Given the description of an element on the screen output the (x, y) to click on. 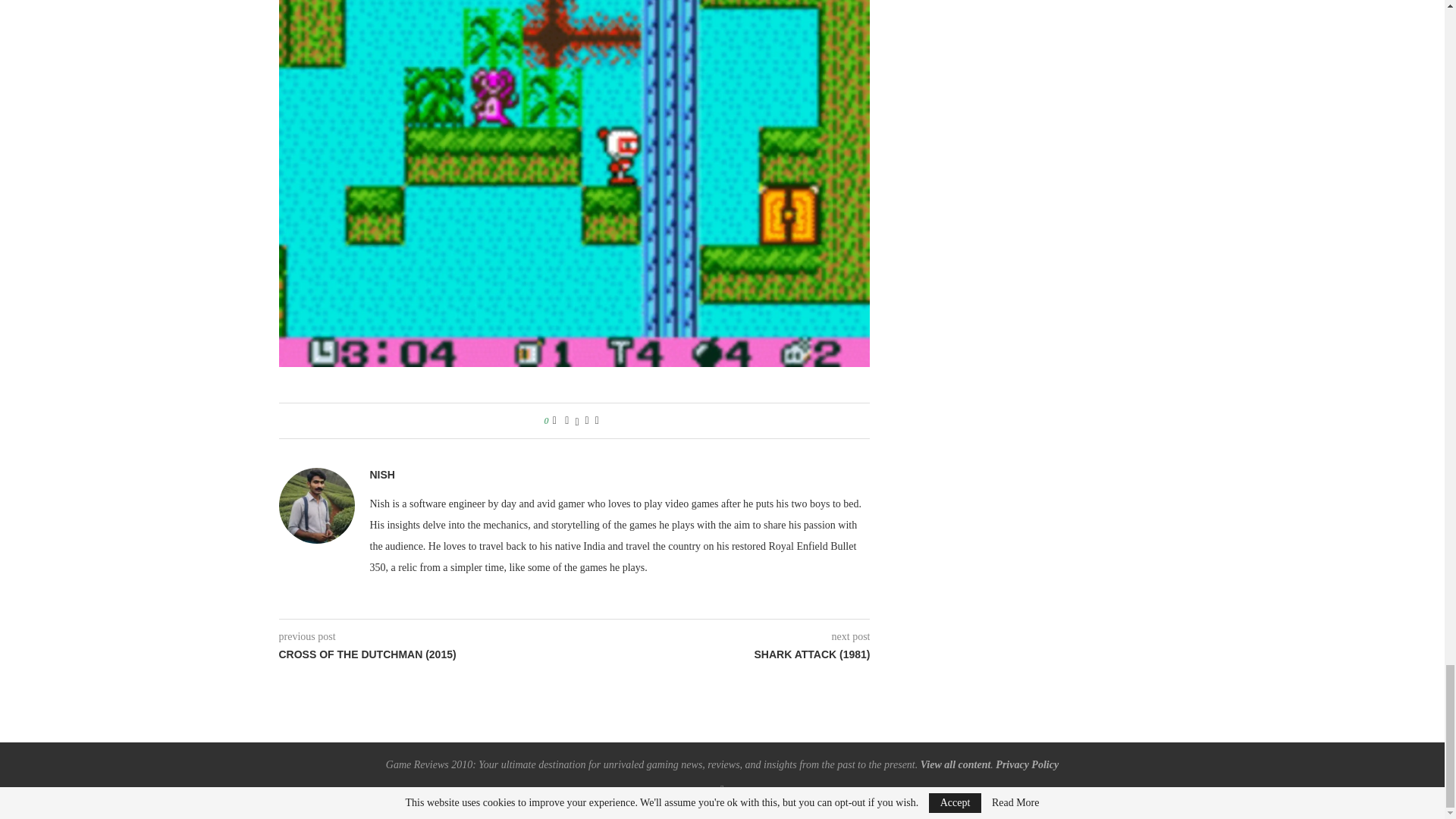
Author Nish (381, 474)
